Given the description of an element on the screen output the (x, y) to click on. 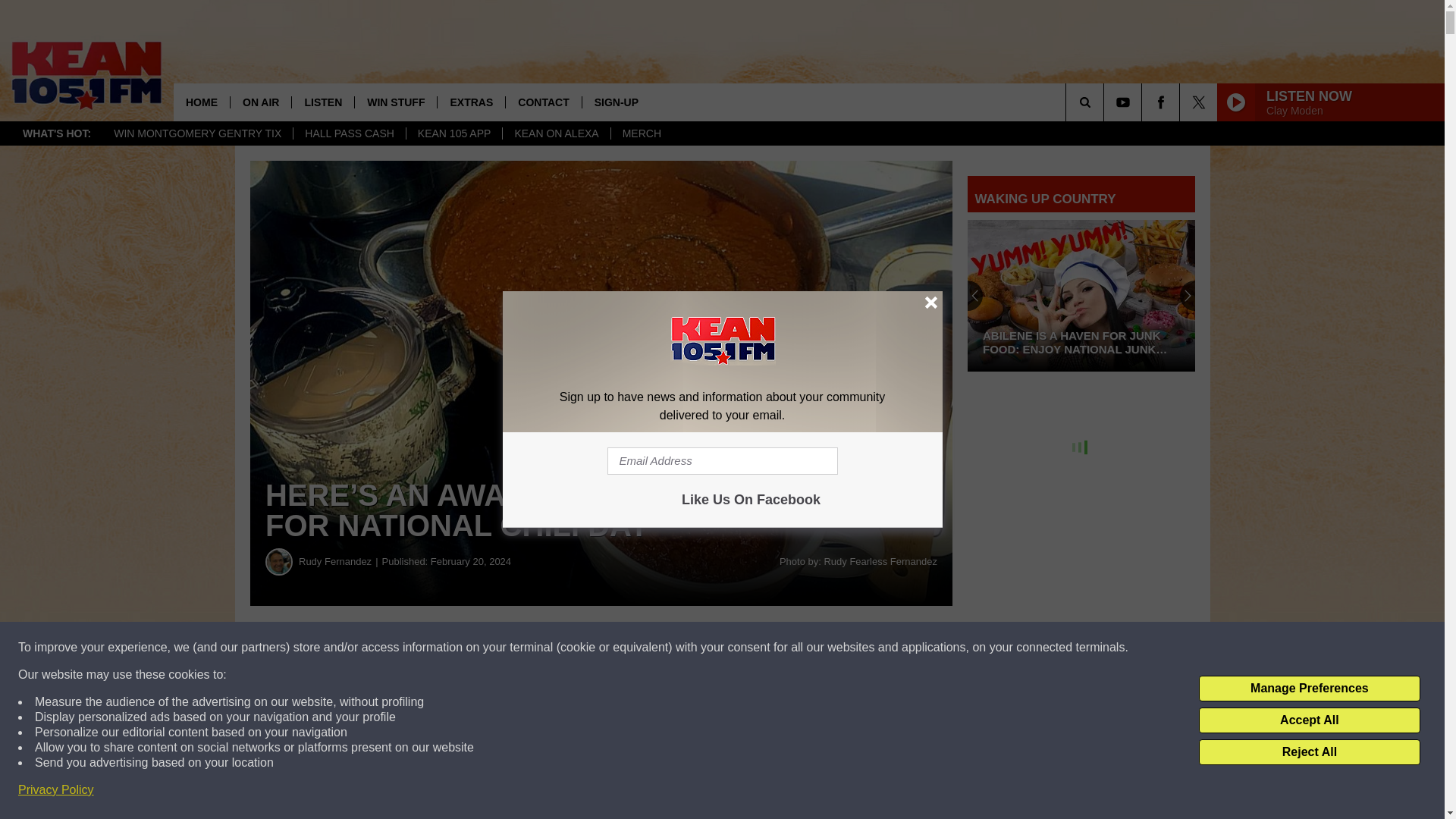
Reject All (1309, 751)
WHAT'S HOT: (56, 133)
Privacy Policy (55, 789)
HALL PASS CASH (349, 133)
HOME (201, 102)
KEAN 105 APP (454, 133)
WIN MONTGOMERY GENTRY TIX (196, 133)
Email Address (722, 461)
WIN STUFF (394, 102)
Share on Twitter (741, 647)
Manage Preferences (1309, 688)
SEARCH (1106, 102)
EXTRAS (470, 102)
ON AIR (260, 102)
KEAN ON ALEXA (556, 133)
